Given the description of an element on the screen output the (x, y) to click on. 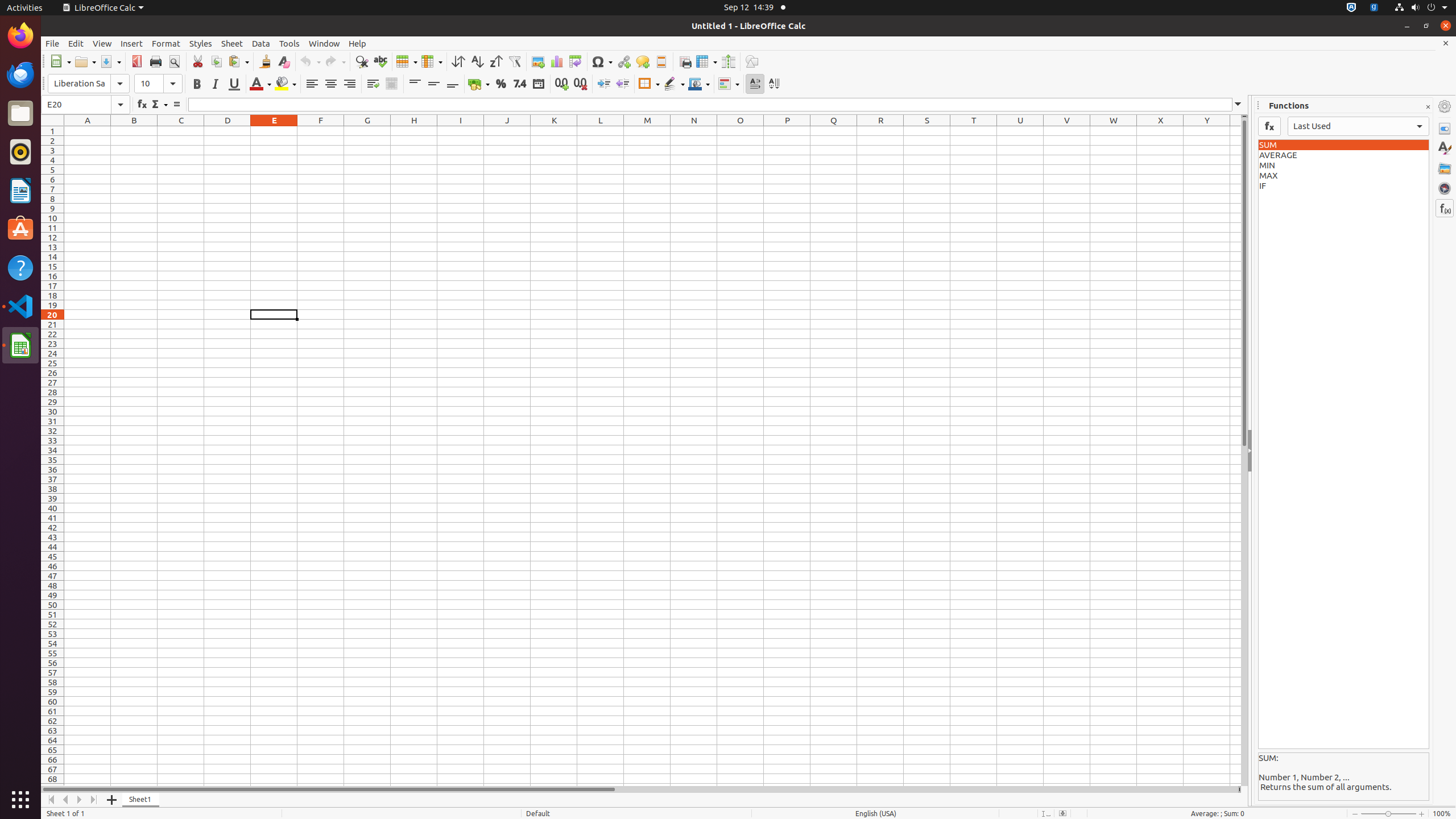
Column Element type: push-button (431, 61)
Font Name Element type: combo-box (88, 83)
Wrap Text Element type: push-button (372, 83)
LibreOffice Calc Element type: push-button (20, 344)
Align Top Element type: push-button (414, 83)
